Given the description of an element on the screen output the (x, y) to click on. 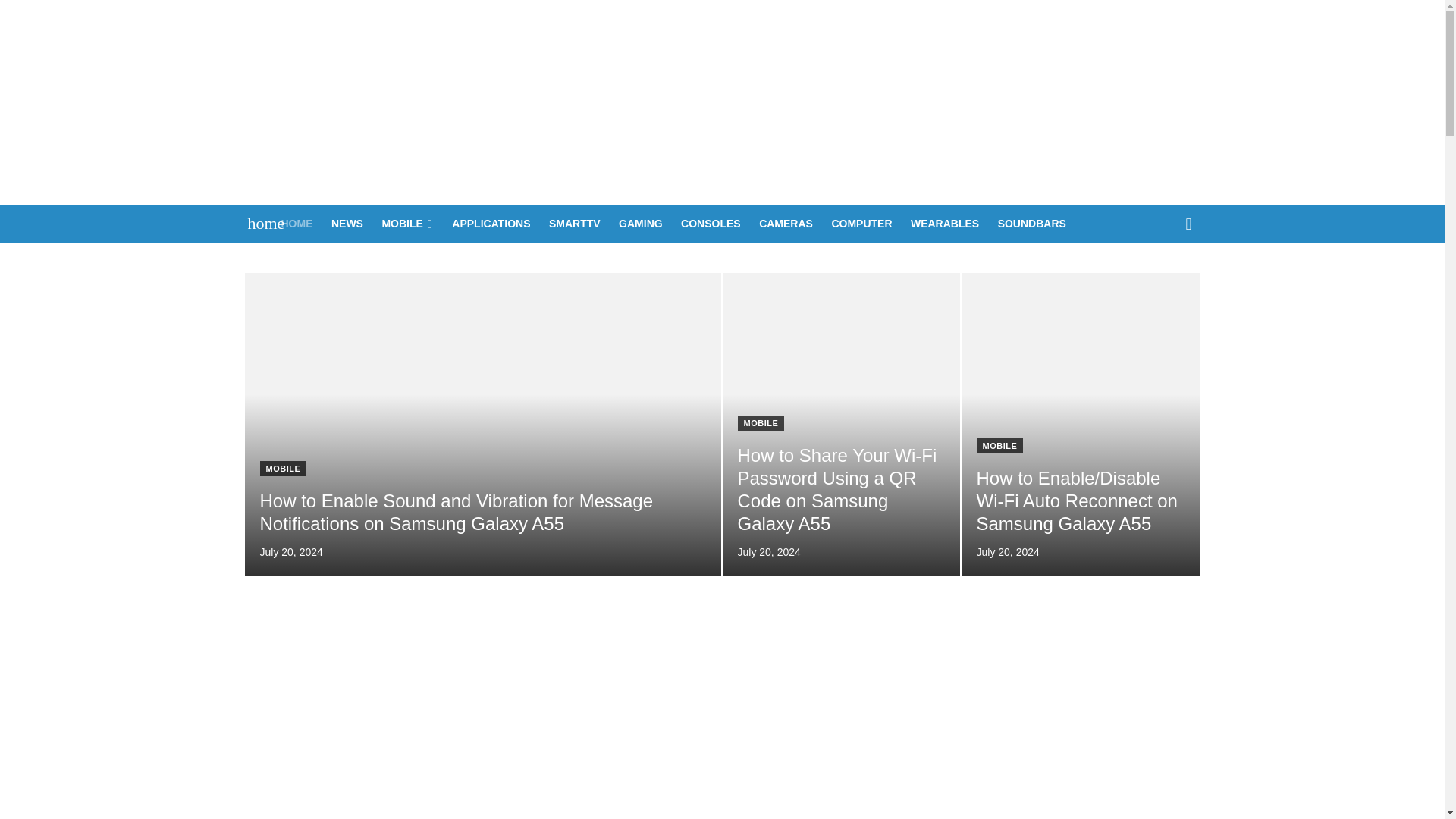
HOME (296, 223)
SOUNDBARS (1031, 223)
MOBILE (760, 422)
CAMERAS (785, 223)
home (258, 223)
July 20, 2024 (290, 551)
APPLICATIONS (490, 223)
GAMING (640, 223)
SMARTTV (575, 223)
NEWS (347, 223)
MOBILE (282, 468)
MOBILE (406, 223)
